Given the description of an element on the screen output the (x, y) to click on. 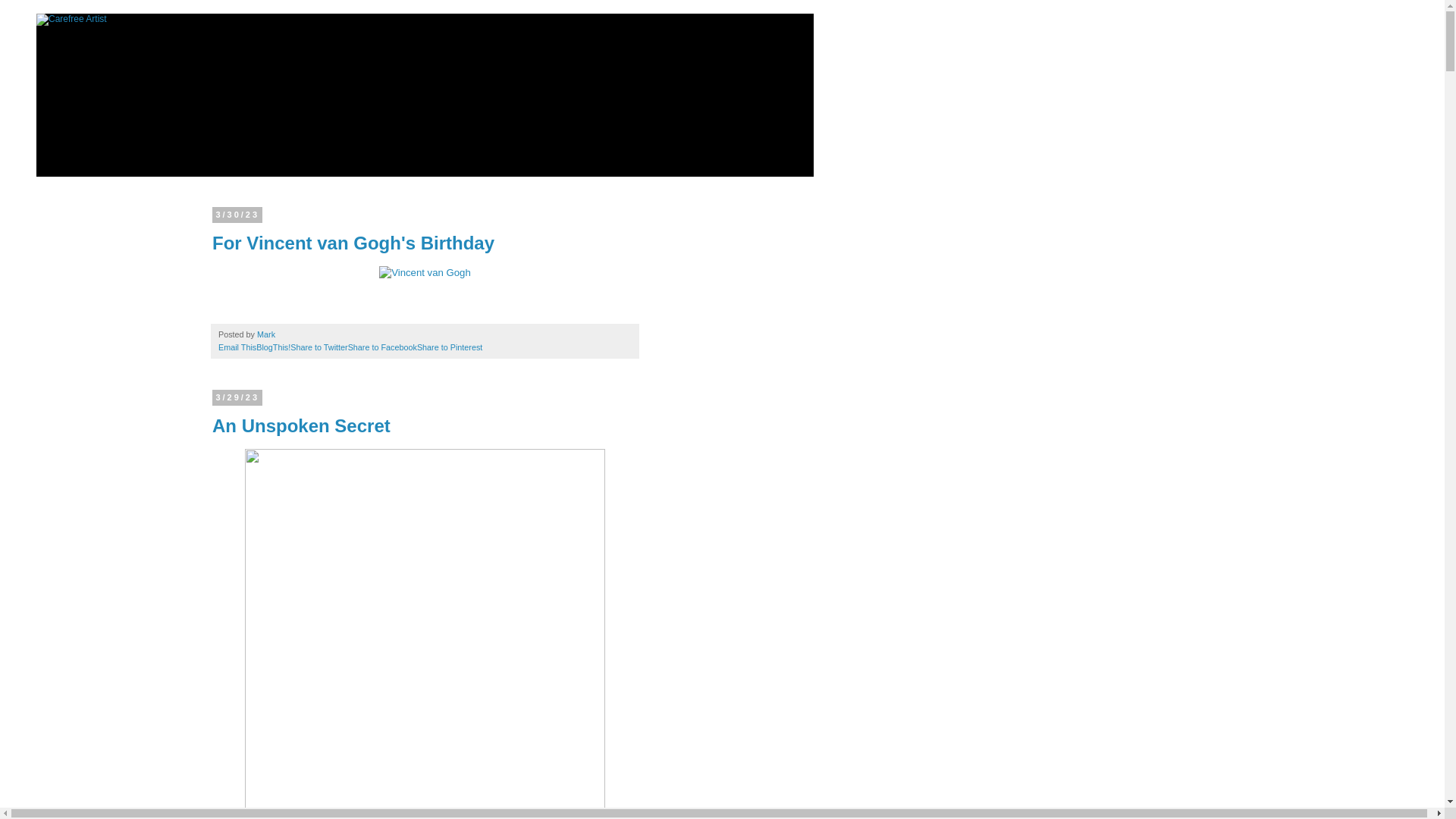
An Unspoken Secret (301, 425)
Mark (267, 334)
author profile (267, 334)
Email This (237, 347)
Share to Facebook (381, 347)
BlogThis! (272, 347)
Share to Pinterest (448, 347)
For Vincent van Gogh's Birthday (424, 273)
Share to Twitter (318, 347)
BlogThis! (272, 347)
Share to Twitter (318, 347)
Email This (237, 347)
Share to Pinterest (448, 347)
For Vincent van Gogh's Birthday (353, 242)
Share to Facebook (381, 347)
